Given the description of an element on the screen output the (x, y) to click on. 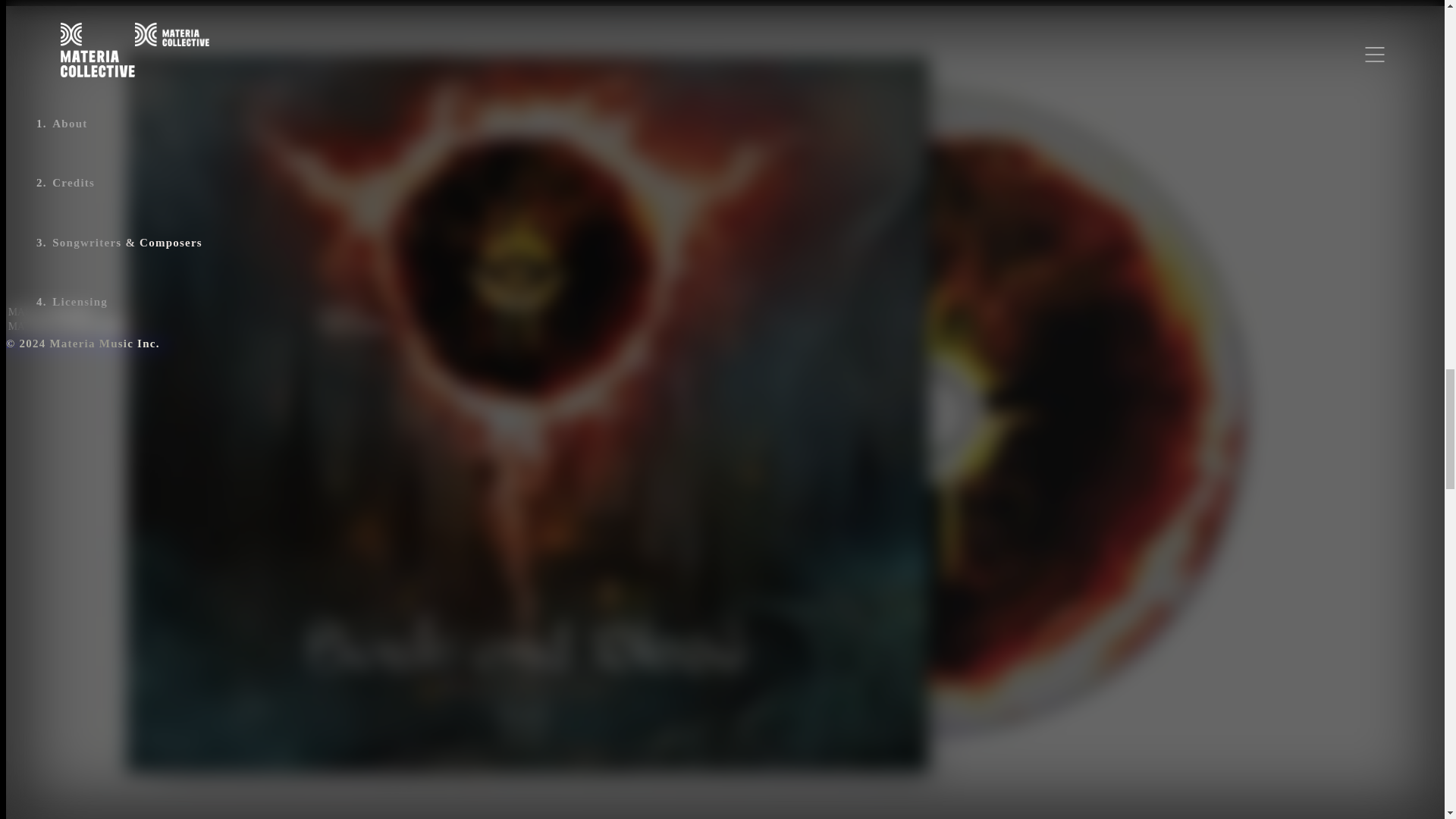
Throne of Want songwriters and composers (263, 190)
Report incorrect or missing information (87, 344)
